Given the description of an element on the screen output the (x, y) to click on. 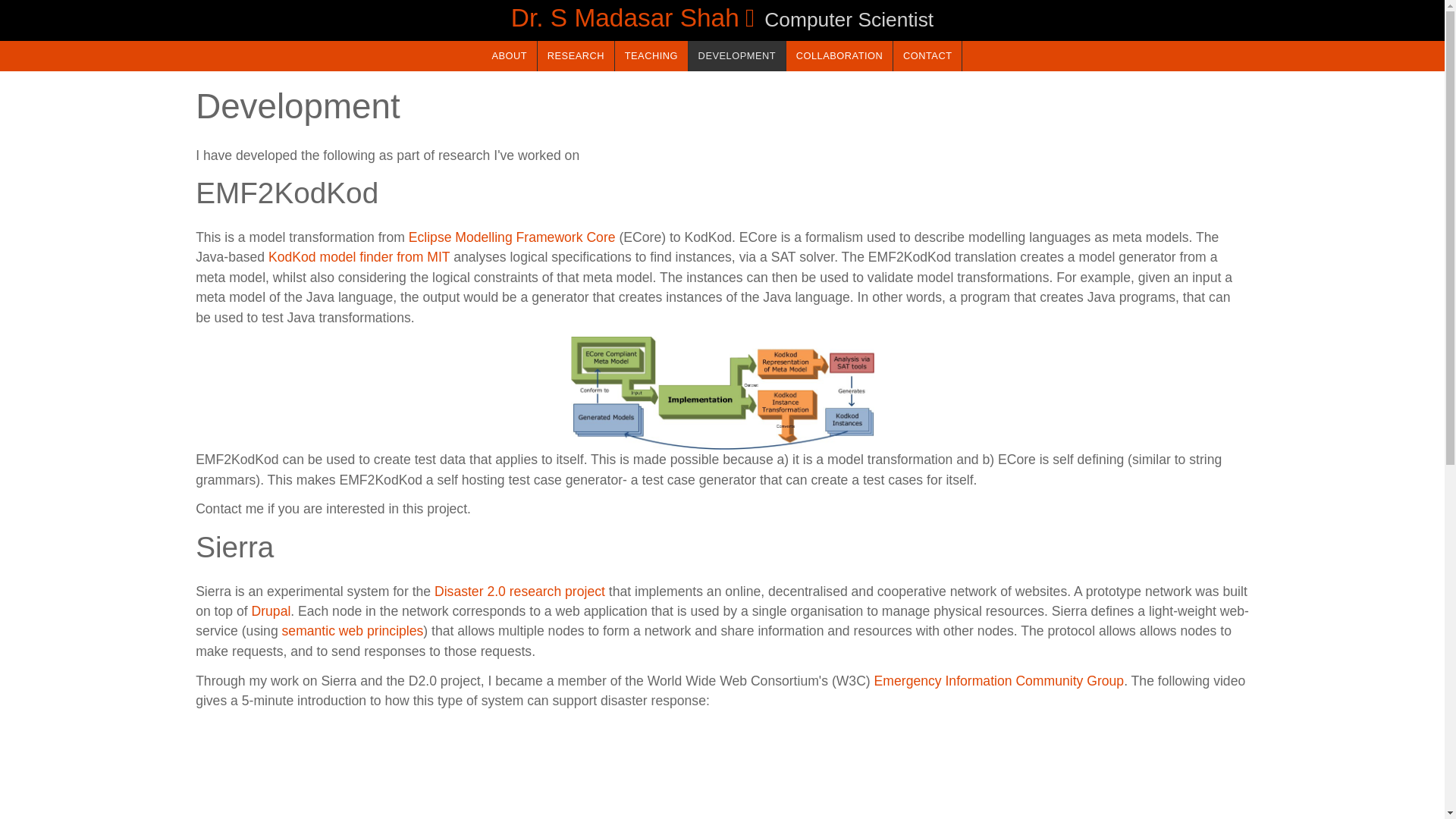
KodKod model finder from MIT (358, 256)
semantic web principles (352, 630)
Dr. S Madasar Shah (636, 17)
RESEARCH (575, 55)
Disaster 2.0 research project (519, 590)
Eclipse Modelling Framework Core (512, 237)
TEACHING (650, 55)
DEVELOPMENT (737, 55)
CONTACT (926, 55)
